Given the description of an element on the screen output the (x, y) to click on. 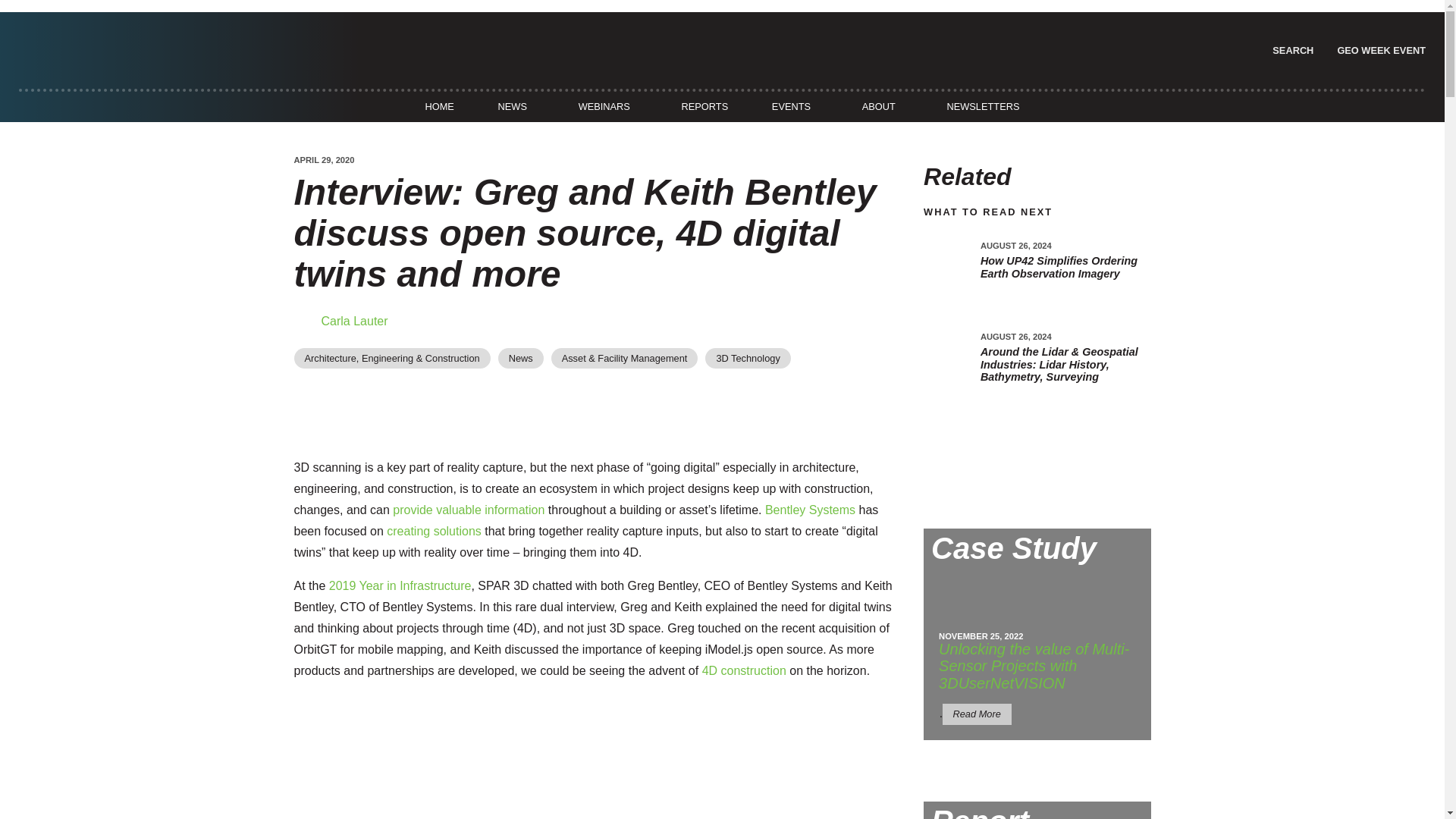
HOME (439, 106)
SEARCH (1290, 50)
Geo Week (1378, 50)
Interview: Greg and Keith Bentley of Bentley Systems (560, 756)
WEBINARS (604, 106)
GEO WEEK EVENT (1378, 50)
NEWS (512, 106)
